Given the description of an element on the screen output the (x, y) to click on. 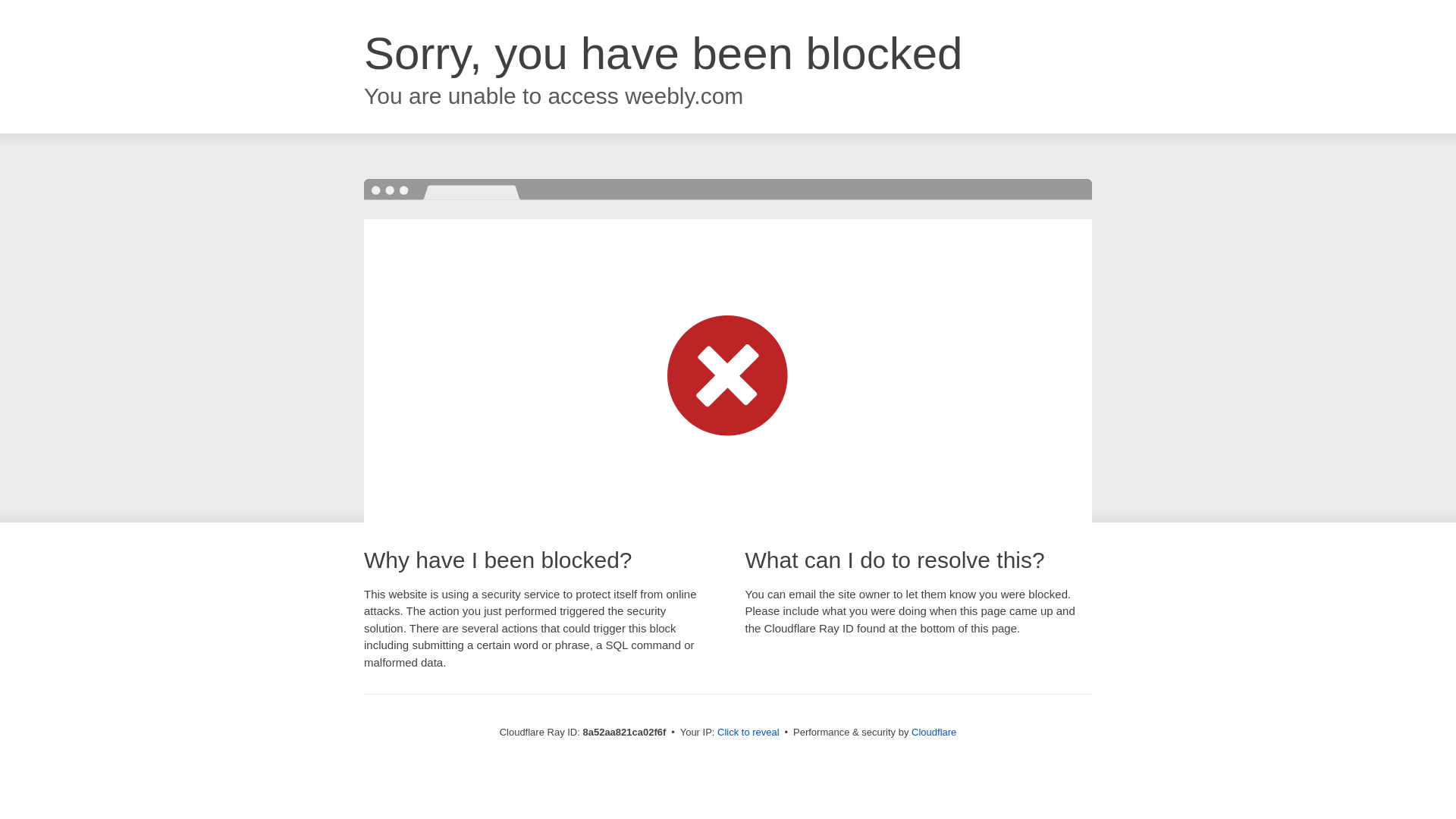
Cloudflare (933, 731)
Click to reveal (747, 732)
